Given the description of an element on the screen output the (x, y) to click on. 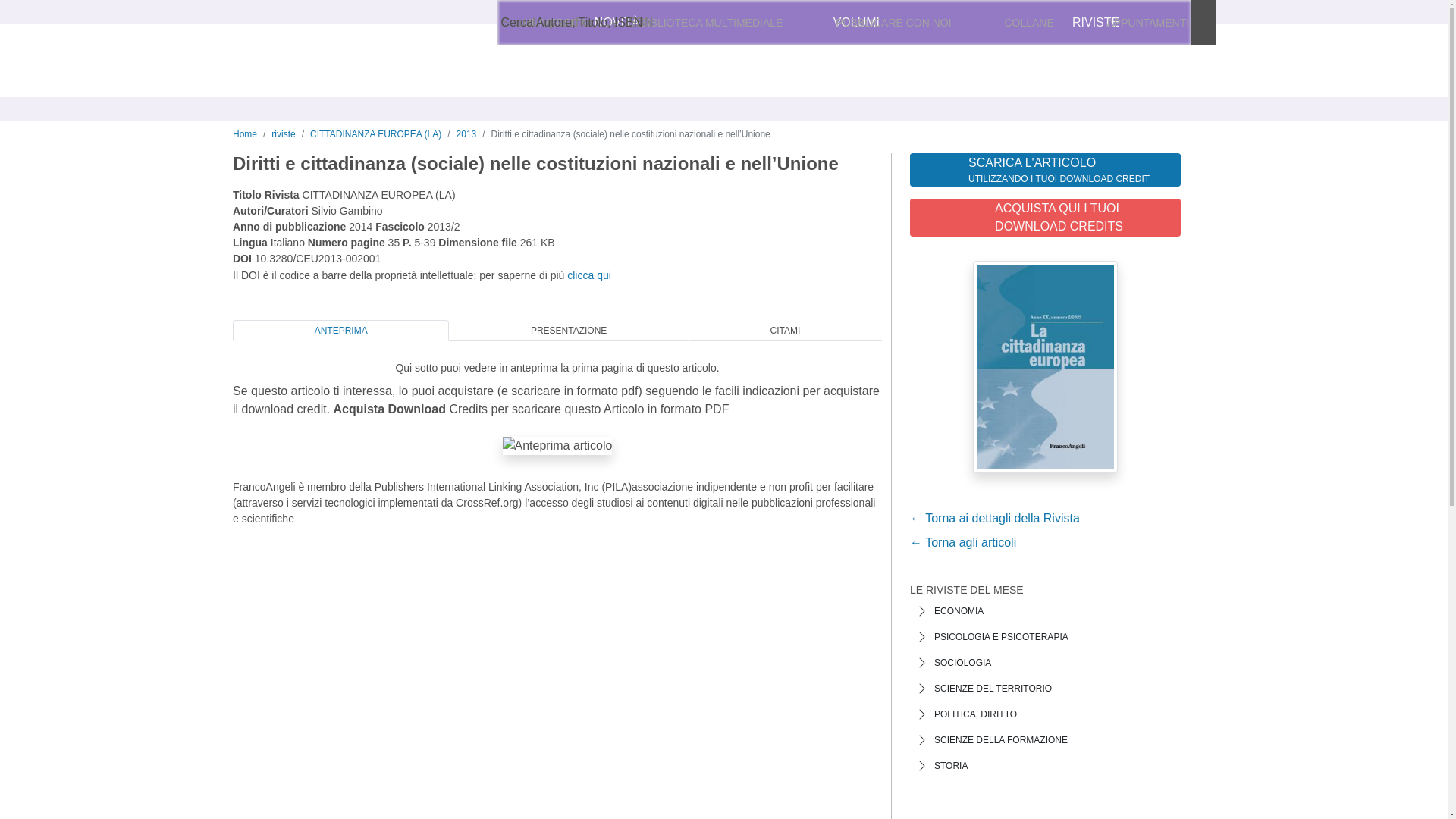
PUBBLICARE CON NOI (892, 22)
ENG (919, 22)
Carrello (1170, 22)
Preferiti (1082, 22)
APPUNTAMENTI (1147, 22)
aiuto (619, 23)
BIBLIOTECA MULTIMEDIALE (711, 22)
Accedi (997, 22)
chi siamo (525, 23)
contatti (577, 23)
